Given the description of an element on the screen output the (x, y) to click on. 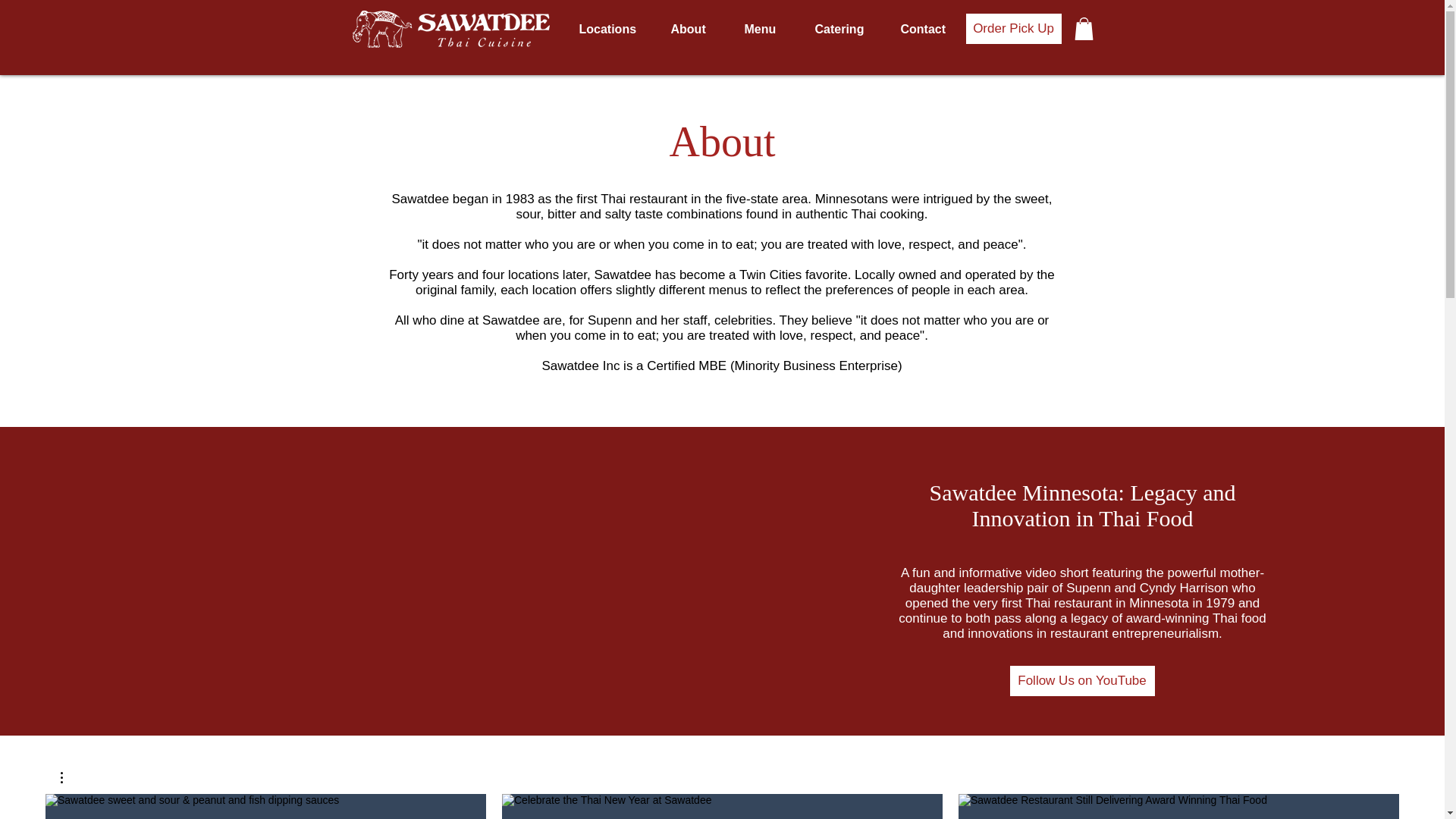
Locations (613, 28)
Follow Us on YouTube (1082, 680)
Catering (846, 28)
Order Pick Up (1013, 28)
Menu (767, 28)
About (696, 28)
Contact (929, 28)
